Given the description of an element on the screen output the (x, y) to click on. 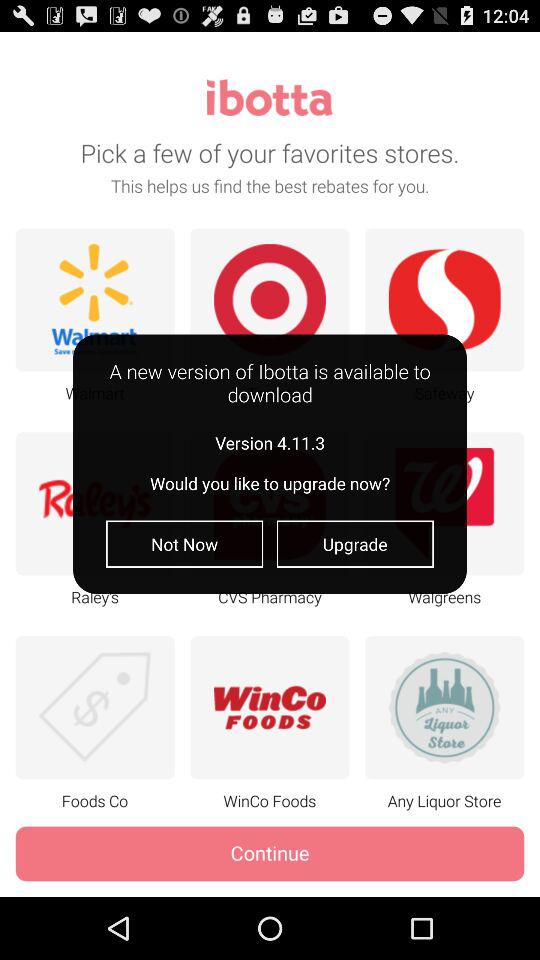
press the icon next to upgrade item (184, 543)
